Given the description of an element on the screen output the (x, y) to click on. 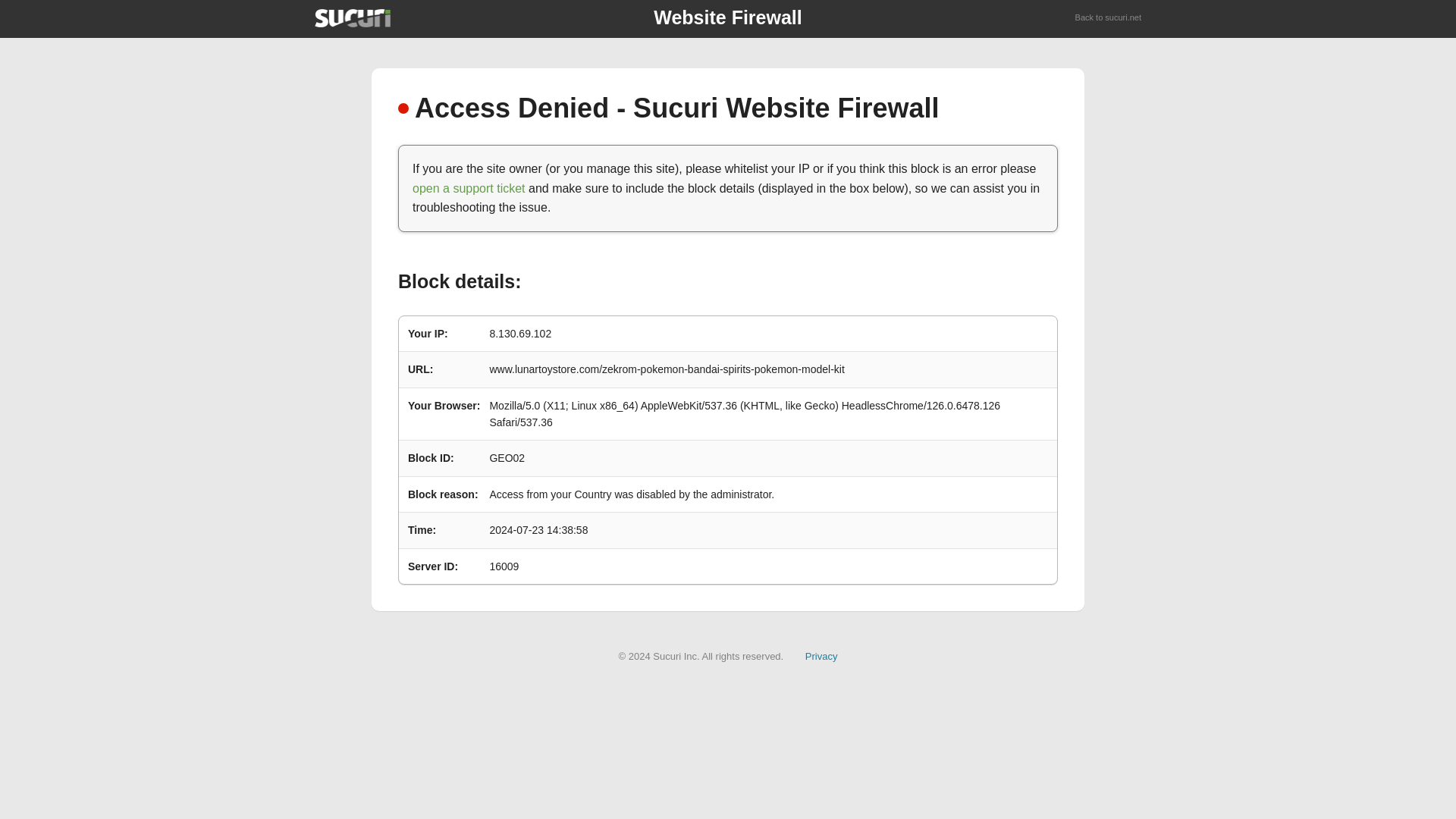
Back to sucuri.net (1108, 18)
Privacy (821, 655)
open a support ticket (468, 187)
